Given the description of an element on the screen output the (x, y) to click on. 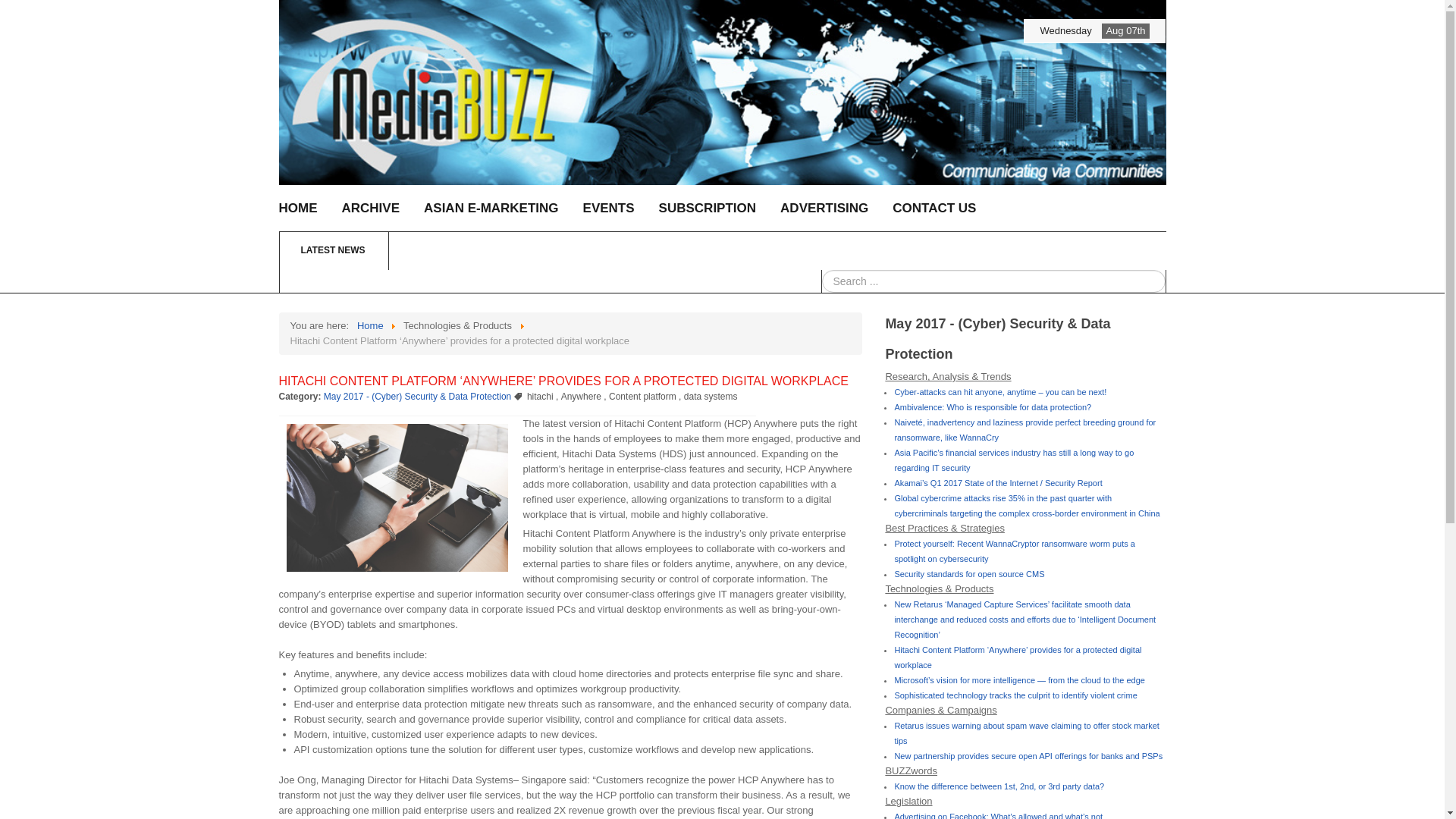
Search ... (994, 281)
ARCHIVE (369, 207)
LATEST NEWS (564, 250)
